Given the description of an element on the screen output the (x, y) to click on. 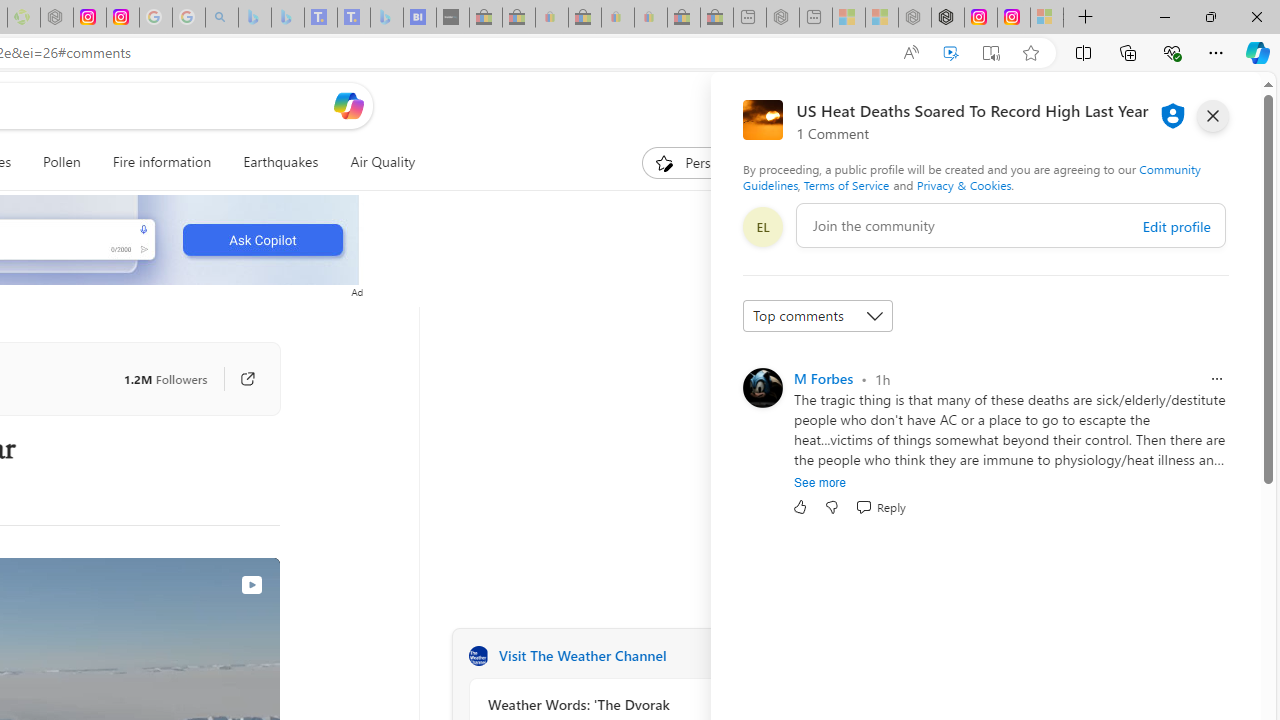
The importance of being lazy - Sleeping (882, 17)
Air Quality (382, 162)
Edit profile (1175, 226)
View on Watch (251, 585)
Threats and offensive language policy | eBay - Sleeping (617, 17)
Fire information (161, 162)
The Weather Channel (478, 655)
Fire information (162, 162)
Profile Picture (762, 387)
